Given the description of an element on the screen output the (x, y) to click on. 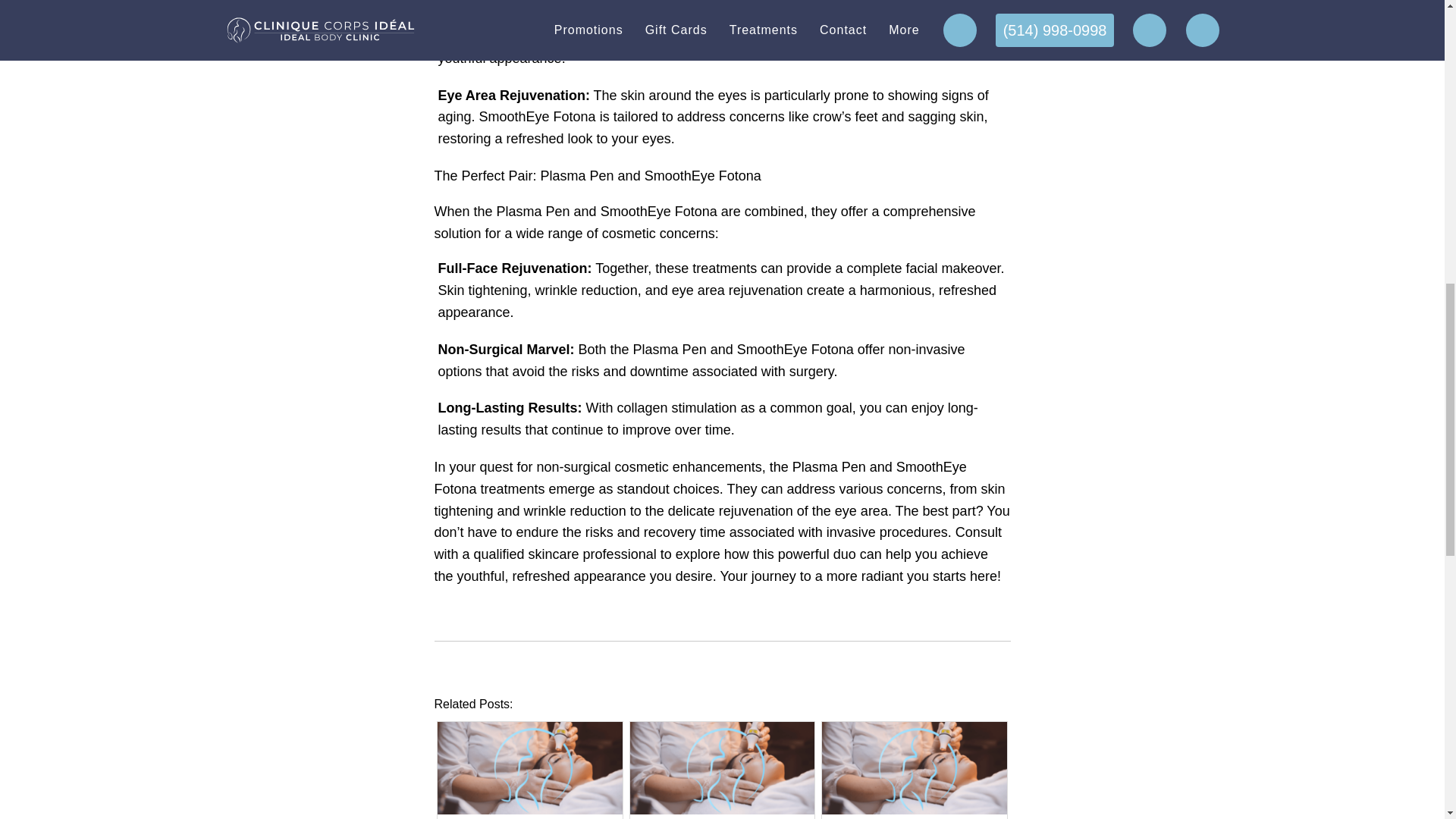
Understanding Your Injectable Options (530, 810)
The Complete Guide to Fotona Laser Treatments (722, 810)
